Given the description of an element on the screen output the (x, y) to click on. 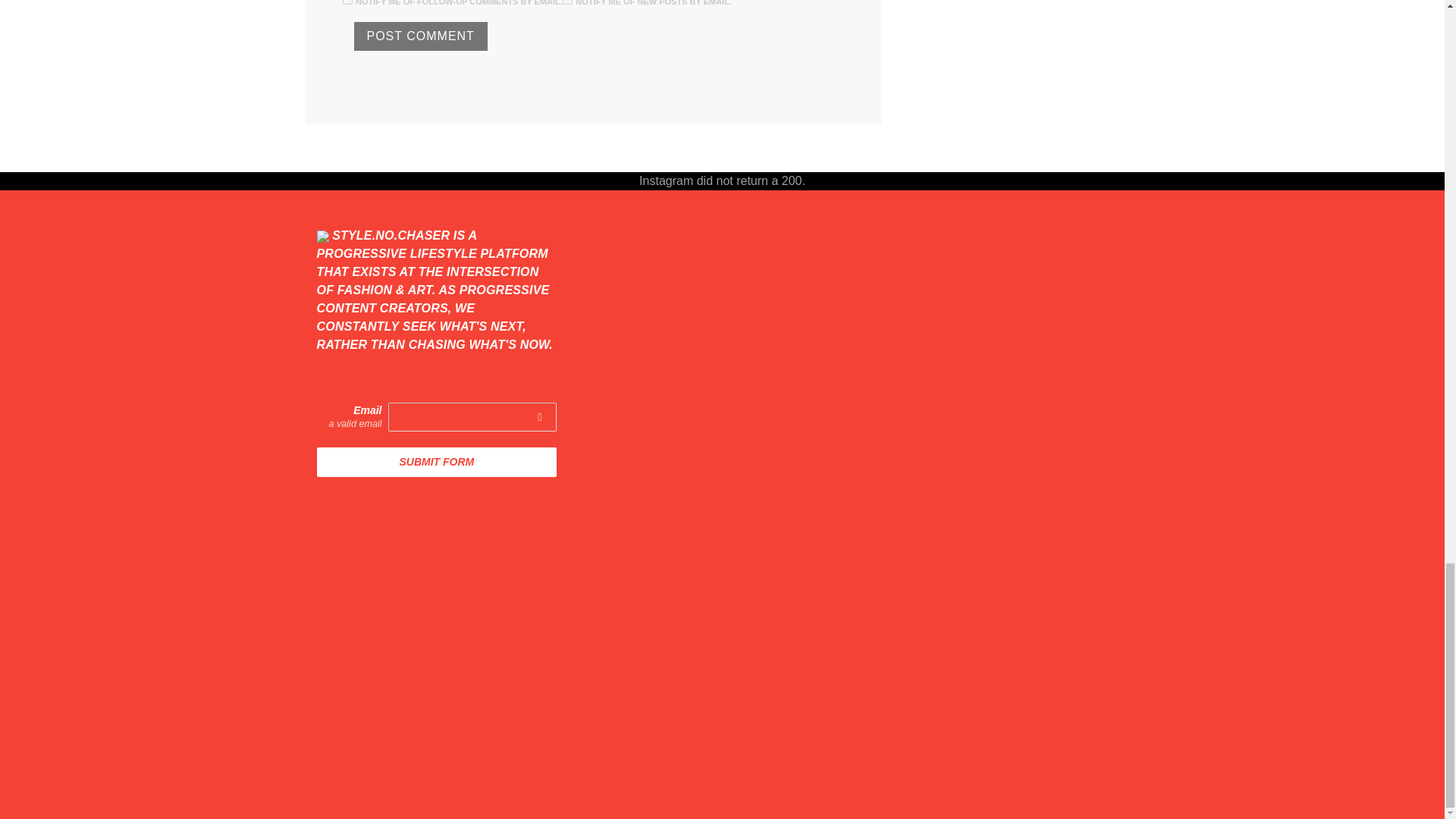
subscribe (347, 2)
subscribe (567, 2)
Post Comment (419, 36)
